Given the description of an element on the screen output the (x, y) to click on. 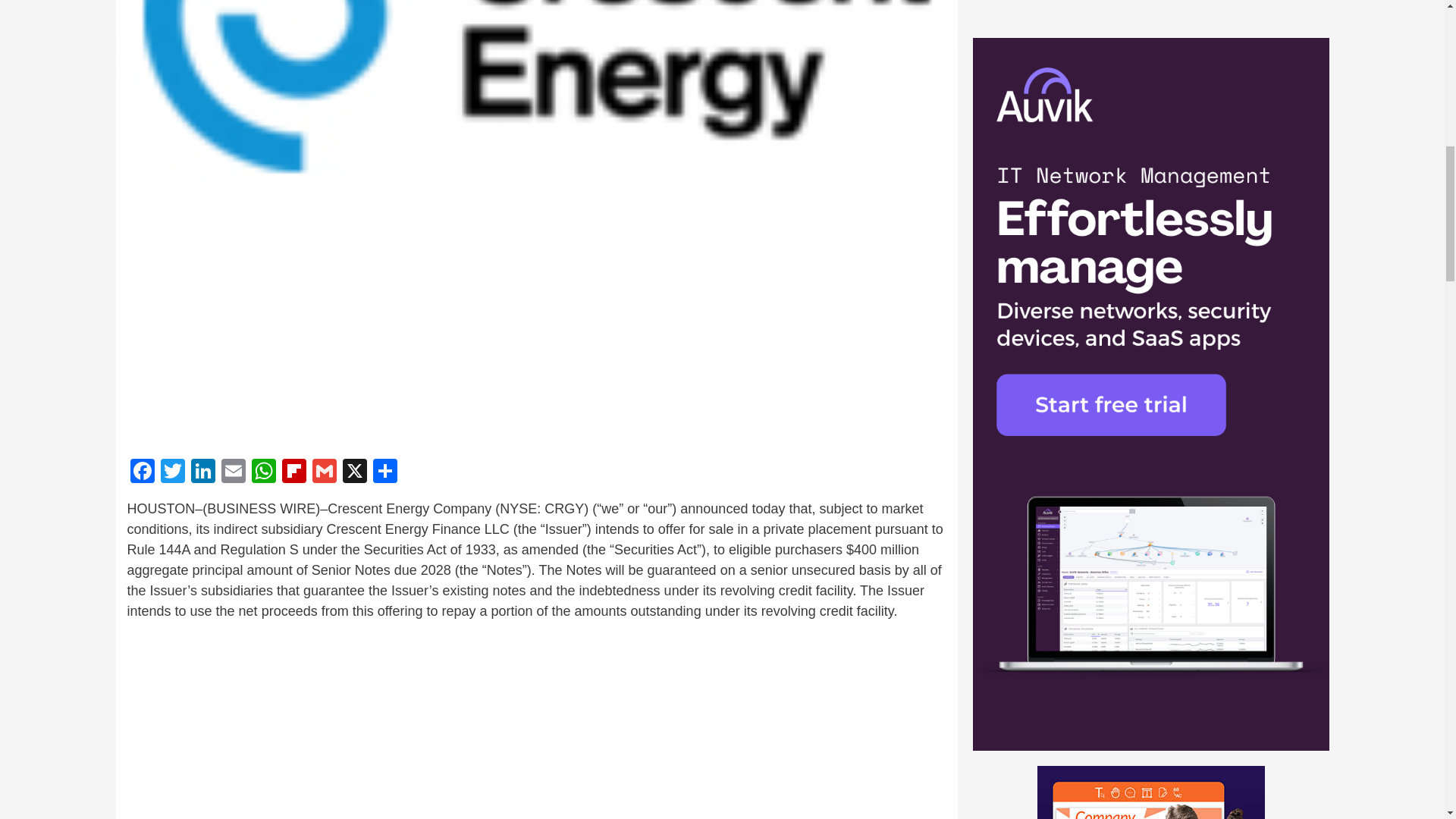
WhatsApp (263, 472)
X (354, 472)
Flipboard (293, 472)
Facebook (142, 472)
Facebook (142, 472)
Gmail (323, 472)
Twitter (172, 472)
Flipboard (293, 472)
Email (233, 472)
WhatsApp (263, 472)
Gmail (323, 472)
Twitter (172, 472)
LinkedIn (202, 472)
LinkedIn (202, 472)
X (354, 472)
